Given the description of an element on the screen output the (x, y) to click on. 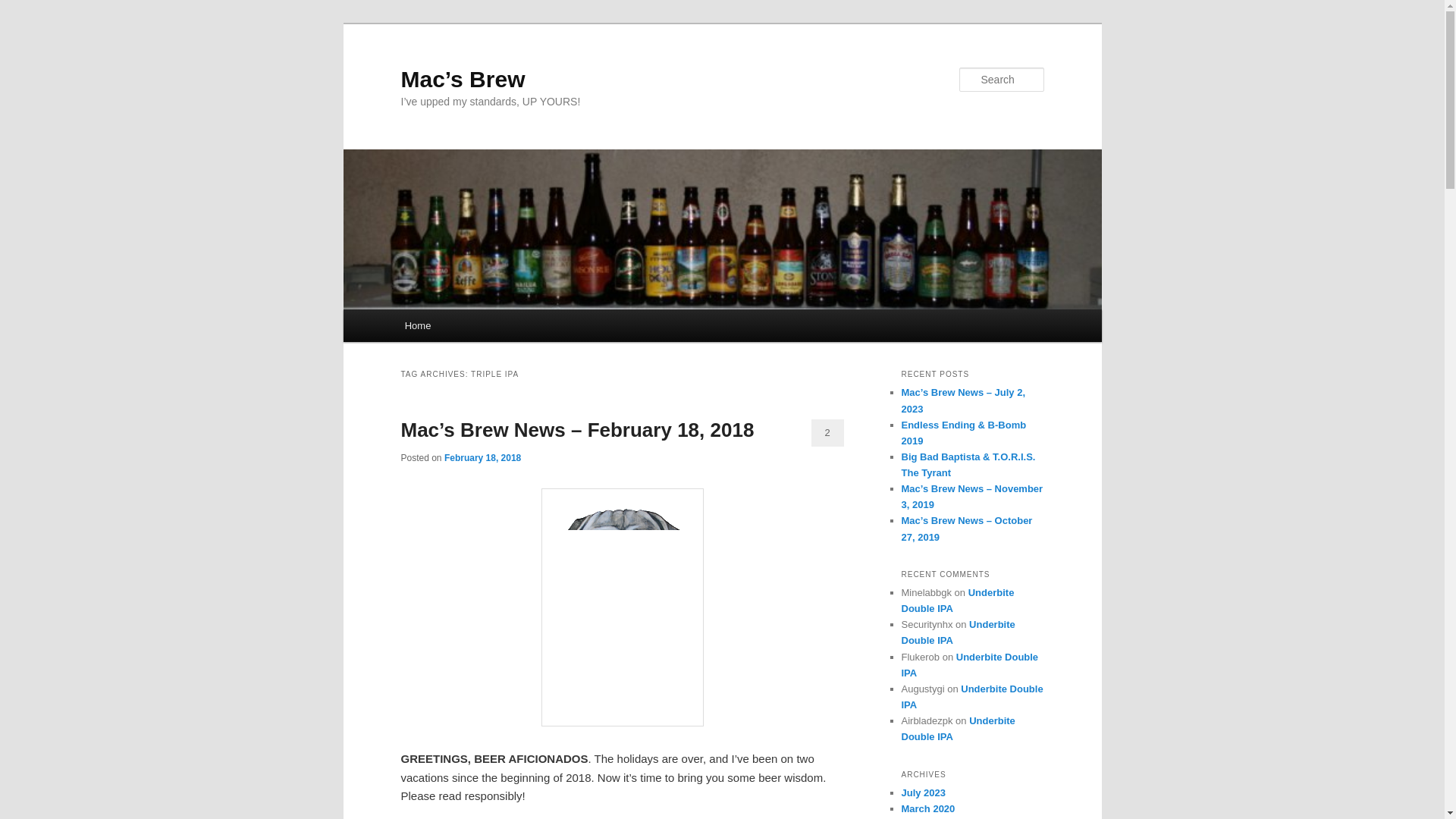
Search (24, 8)
February 18, 2018 (482, 457)
Home (417, 325)
2 (827, 432)
3:56 pm (482, 457)
